Given the description of an element on the screen output the (x, y) to click on. 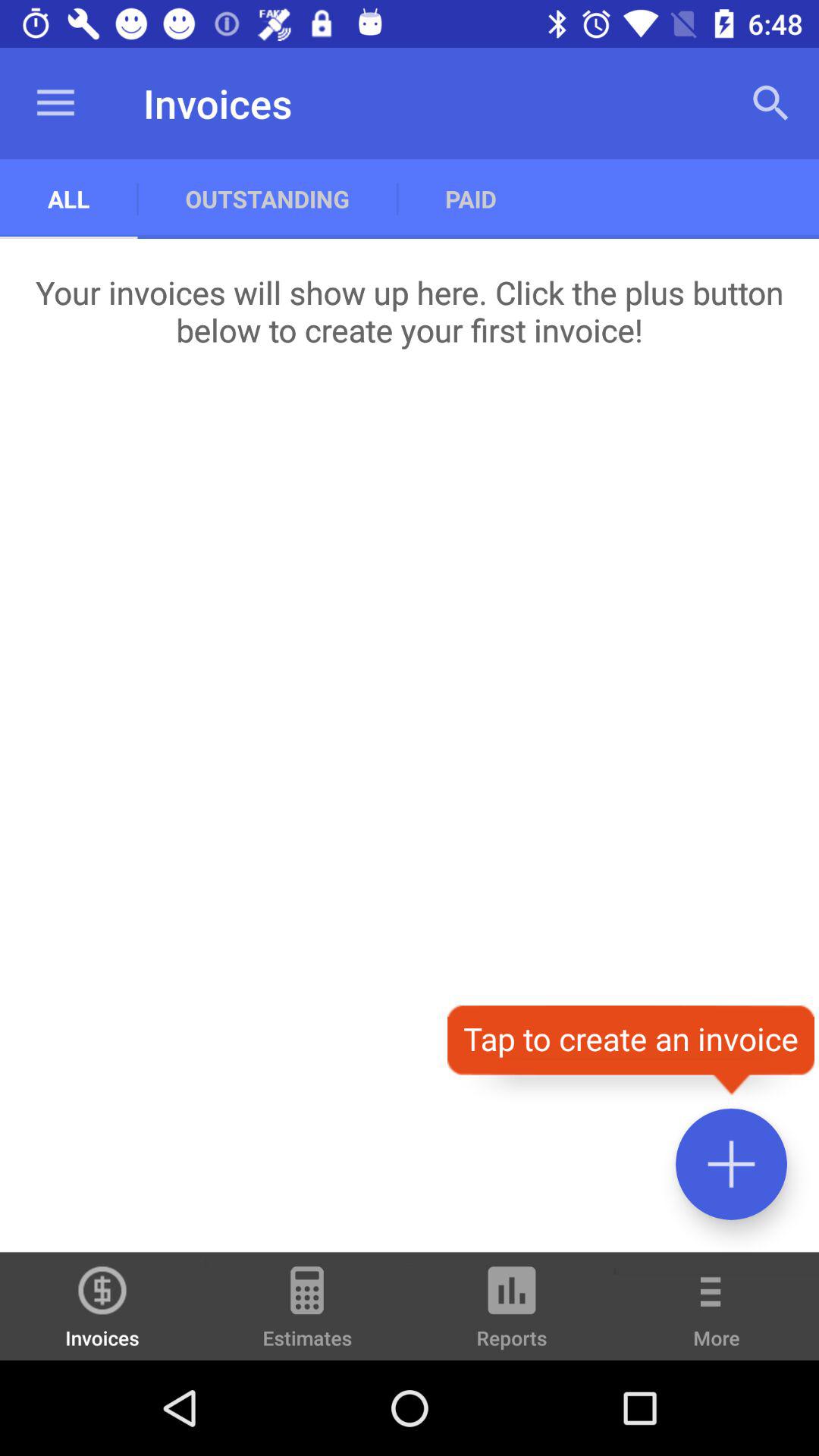
press the outstanding item (267, 198)
